Given the description of an element on the screen output the (x, y) to click on. 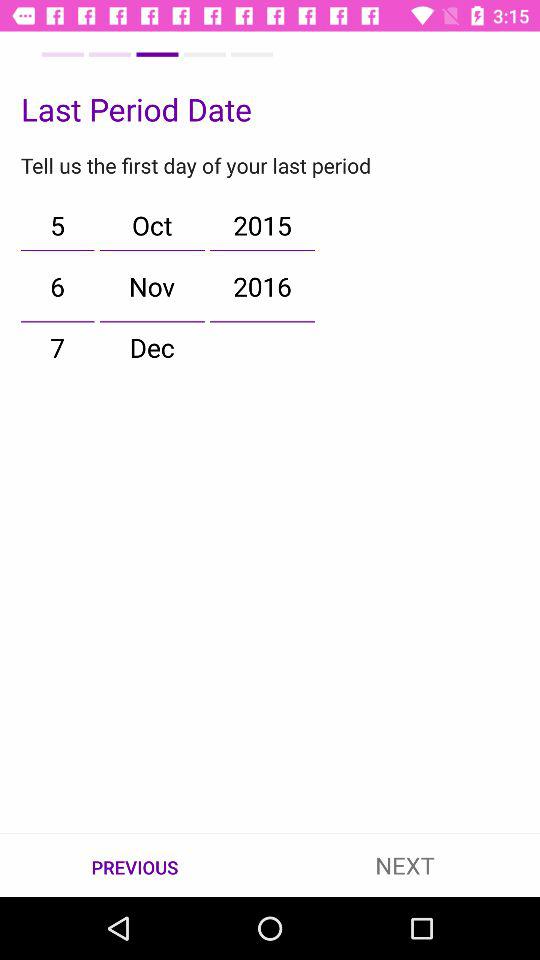
open next item (405, 864)
